Given the description of an element on the screen output the (x, y) to click on. 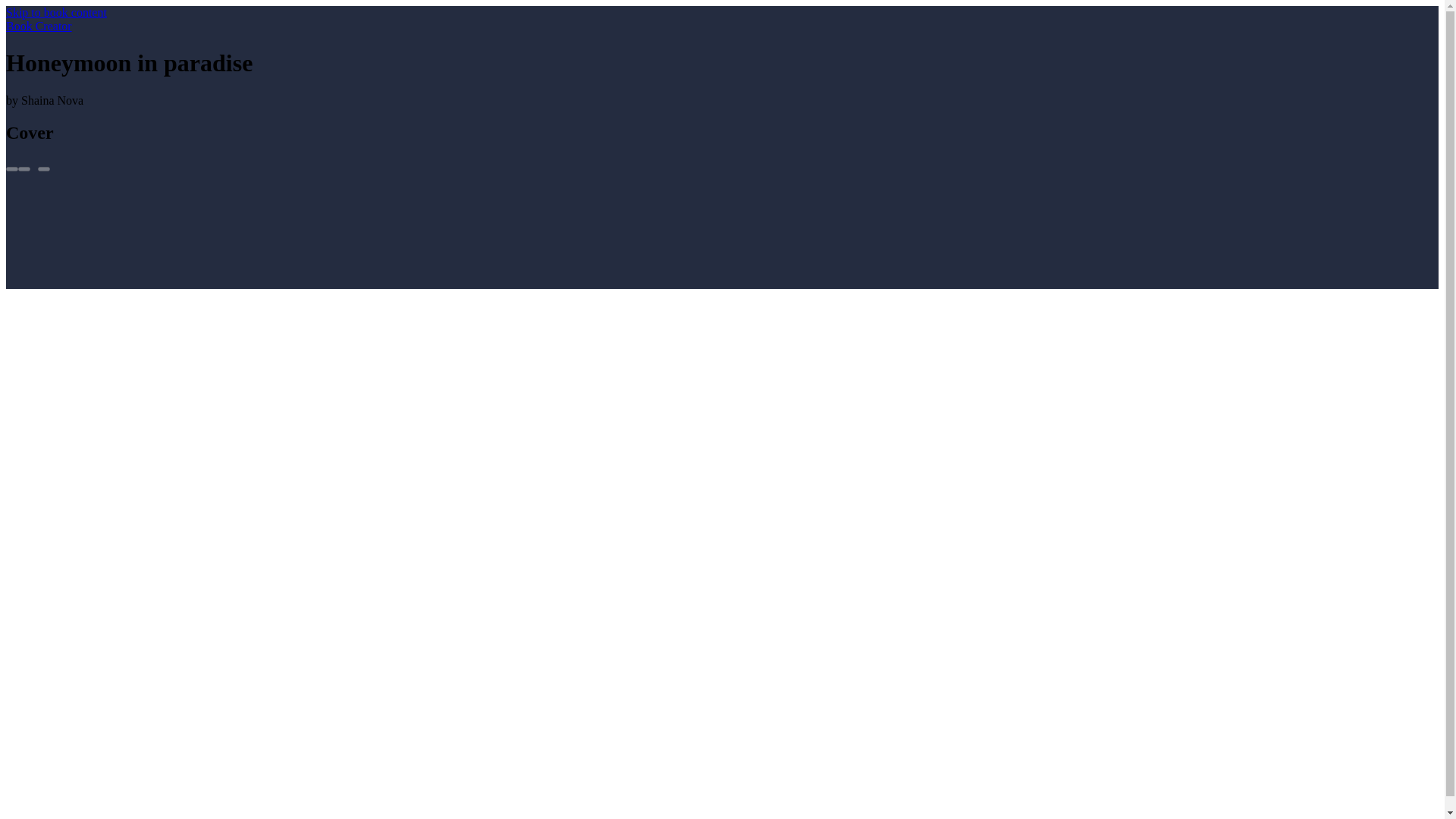
Pages (11, 169)
Skip to book content (55, 11)
Skip to book content (55, 11)
Settings (23, 169)
Book Creator (38, 25)
Menu (43, 169)
Go to Book Creator website (38, 25)
